Given the description of an element on the screen output the (x, y) to click on. 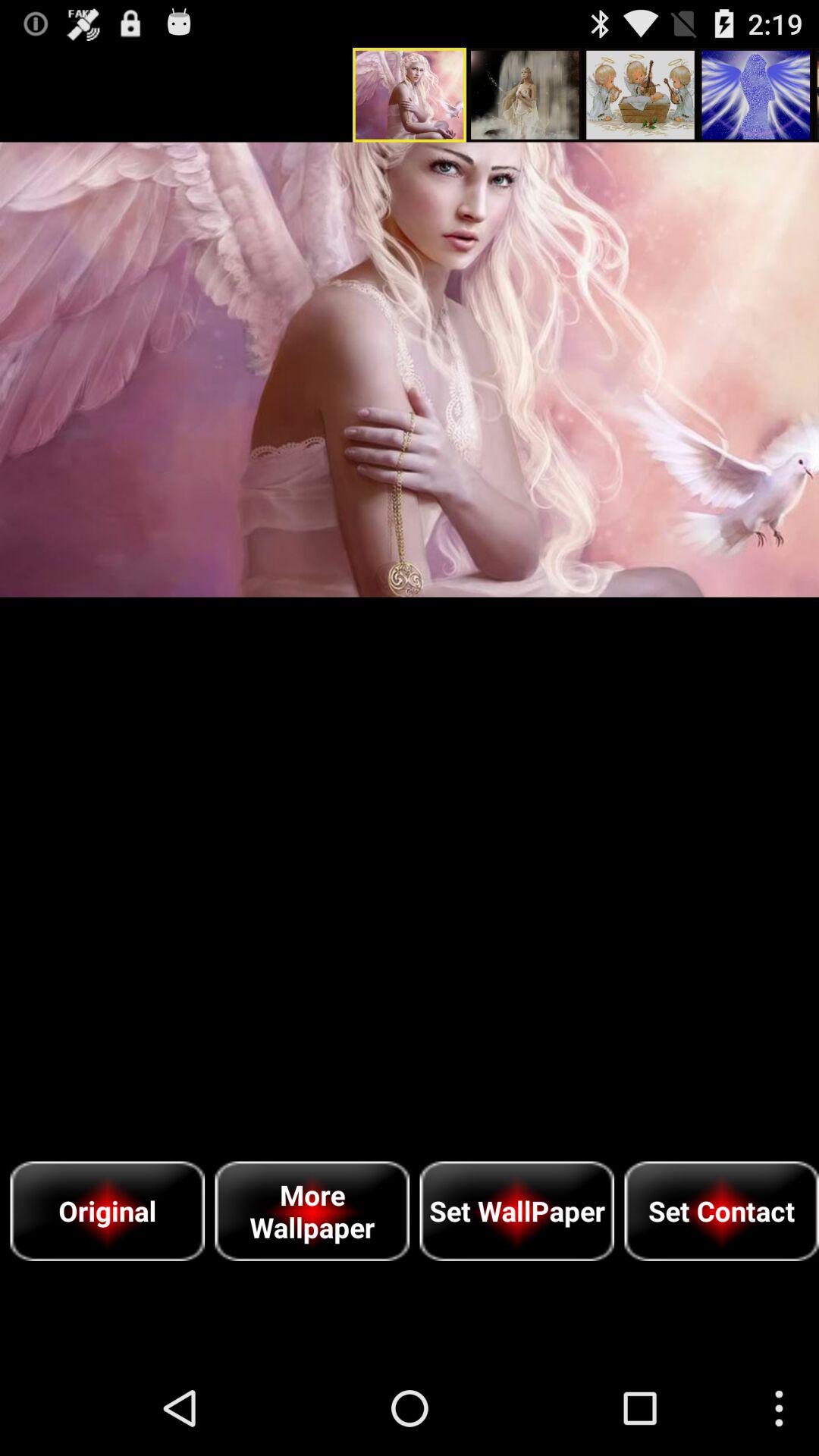
turn on icon next to original icon (311, 1210)
